Given the description of an element on the screen output the (x, y) to click on. 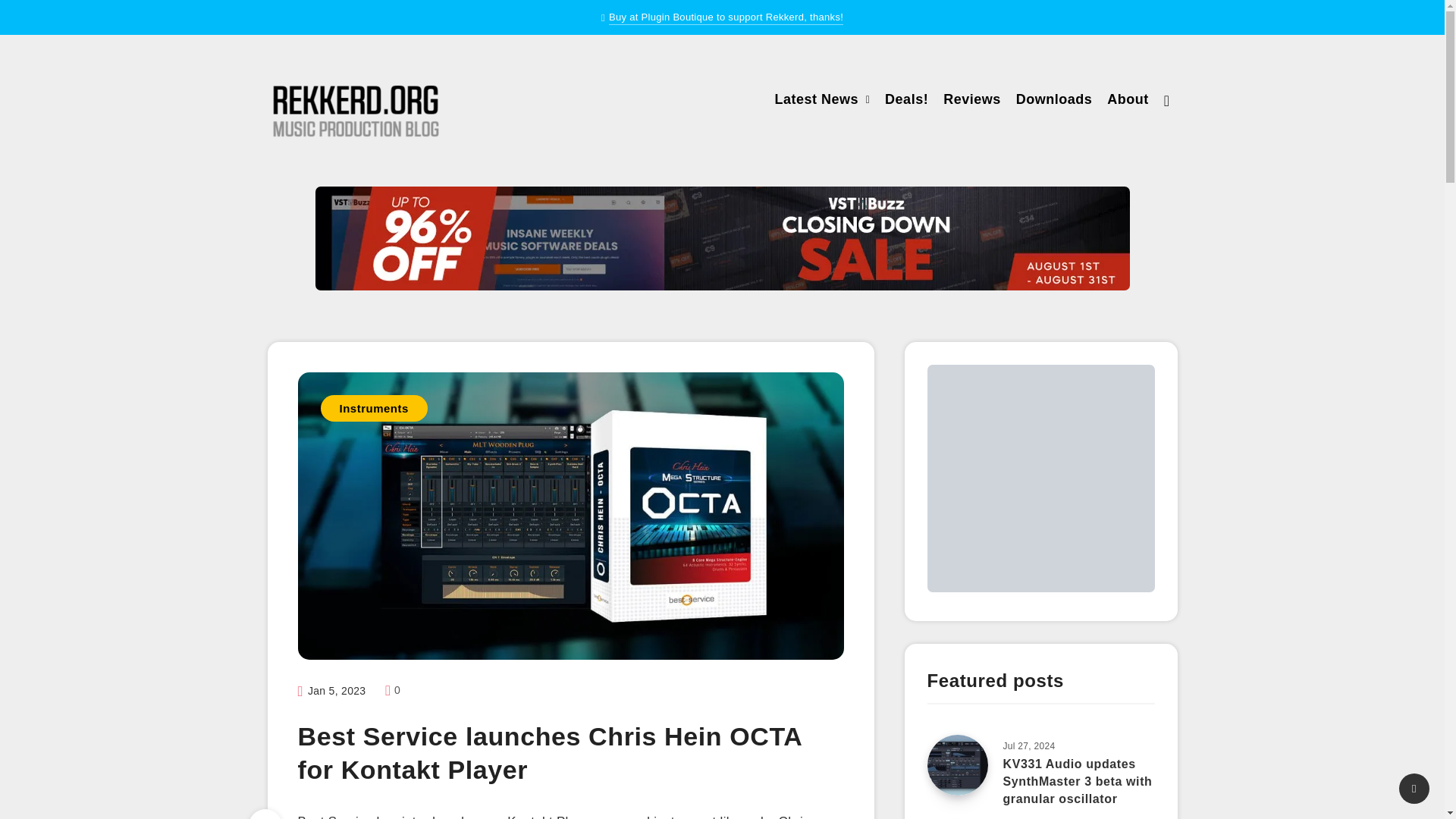
Go to comments (392, 689)
Downloads (1054, 101)
Buy at Plugin Boutique to support Rekkerd, thanks! (725, 17)
Reviews (972, 101)
About (1127, 101)
Latest News (816, 101)
0 (392, 689)
Deals! (906, 101)
Instruments (373, 407)
